Given the description of an element on the screen output the (x, y) to click on. 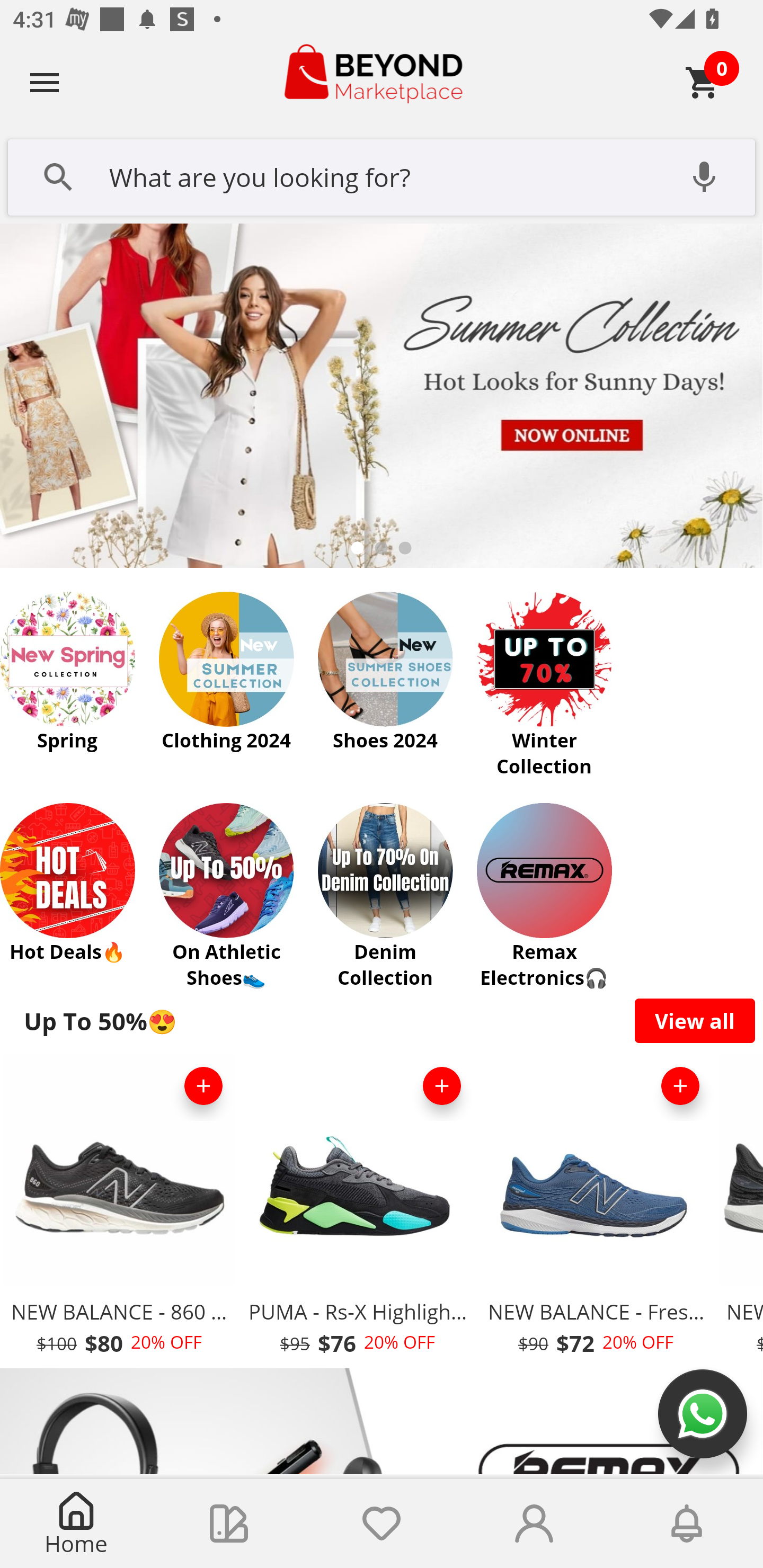
Navigate up (44, 82)
What are you looking for? (381, 175)
View all (694, 1020)
NEW BALANCE - 860 Running Shoes $100 $80 20% OFF (119, 1209)
Collections (228, 1523)
Wishlist (381, 1523)
Account (533, 1523)
Notifications (686, 1523)
